Given the description of an element on the screen output the (x, y) to click on. 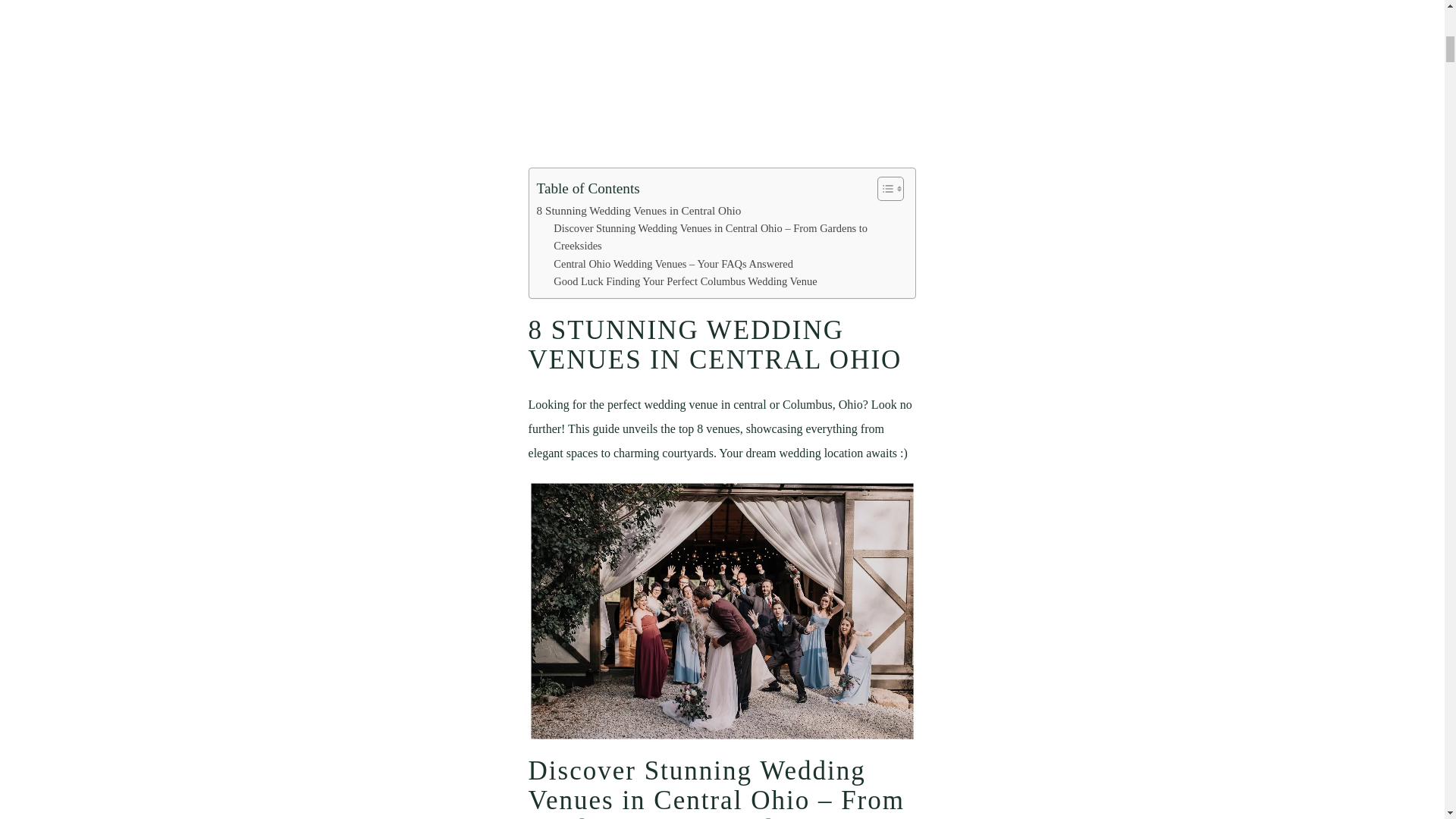
Good Luck Finding Your Perfect Columbus Wedding Venue (684, 281)
8 Stunning Wedding Venues in Central Ohio (639, 210)
8 Stunning Wedding Venues in Central Ohio (639, 210)
YouTube video player 1 (672, 72)
27 meghan aaron boho wedding (722, 611)
